Given the description of an element on the screen output the (x, y) to click on. 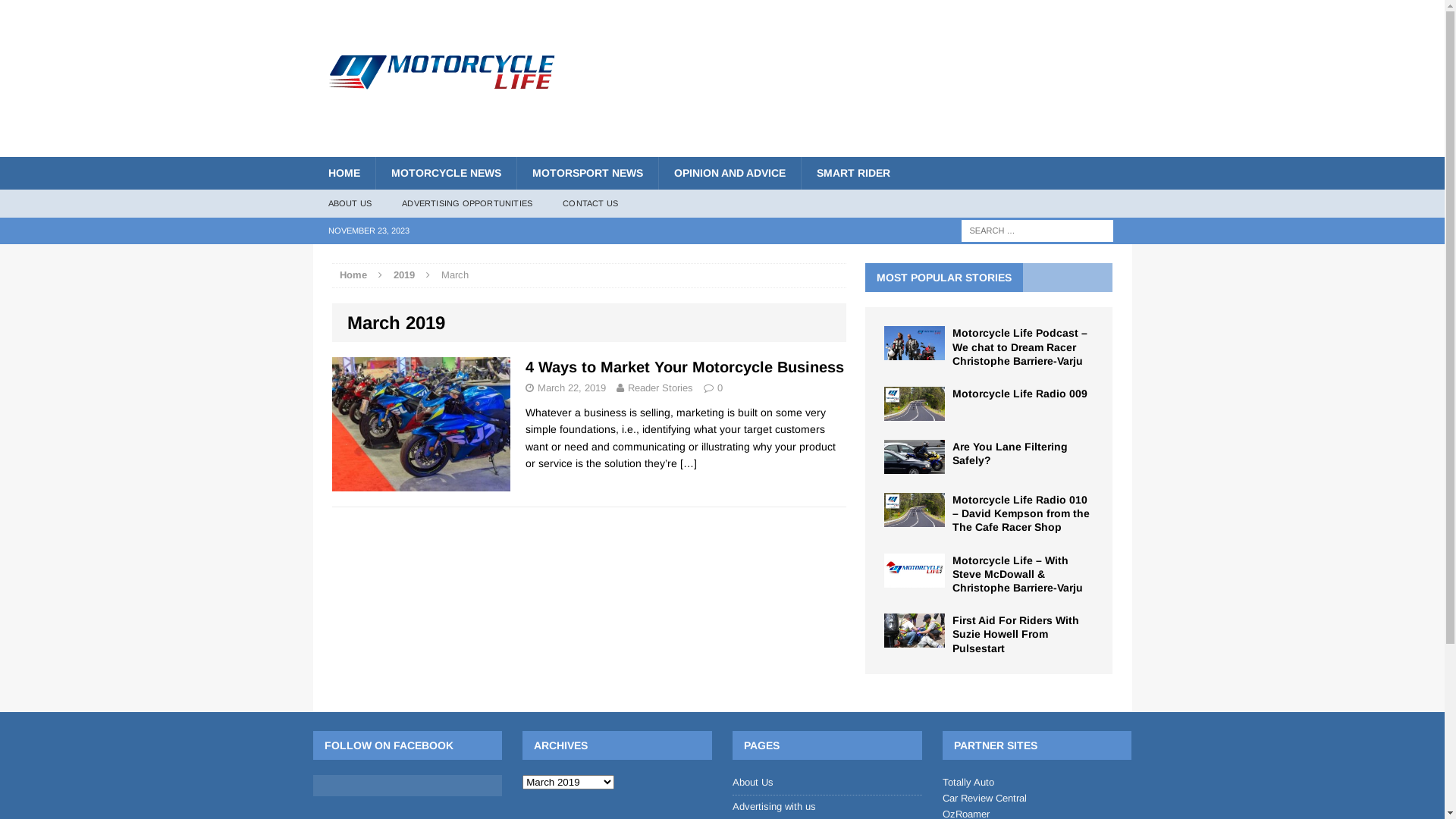
Are You Lane Filtering Safely? Element type: text (1009, 453)
0 Element type: text (719, 387)
Are You Lane Filtering Safely? Element type: hover (914, 465)
2019 Element type: text (403, 274)
Motorcycle Life | SMART Rider Element type: hover (441, 53)
Totally Auto Element type: text (968, 781)
MOTORSPORT NEWS Element type: text (586, 172)
Motorcycle Life Radio 009 Element type: hover (914, 412)
Motorcycle Life Radio 009 Element type: text (1019, 393)
Advertisement Element type: hover (854, 87)
OPINION AND ADVICE Element type: text (729, 172)
Car Review Central Element type: text (984, 797)
First Aid For Riders With Suzie Howell From Pulsestart Element type: text (1015, 633)
Home Element type: text (353, 274)
4 Ways to Market Your Motorcycle Business Element type: text (683, 366)
First Aid For Riders With Suzie Howell From Pulsestart Element type: hover (914, 639)
SMART RIDER Element type: text (852, 172)
HOME Element type: text (343, 172)
Search Element type: text (37, 11)
MOTORCYCLE NEWS Element type: text (444, 172)
About Us Element type: text (827, 785)
Reader Stories Element type: text (660, 387)
CONTACT US Element type: text (590, 203)
ABOUT US Element type: text (349, 203)
ADVERTISING OPPORTUNITIES Element type: text (466, 203)
